Given the description of an element on the screen output the (x, y) to click on. 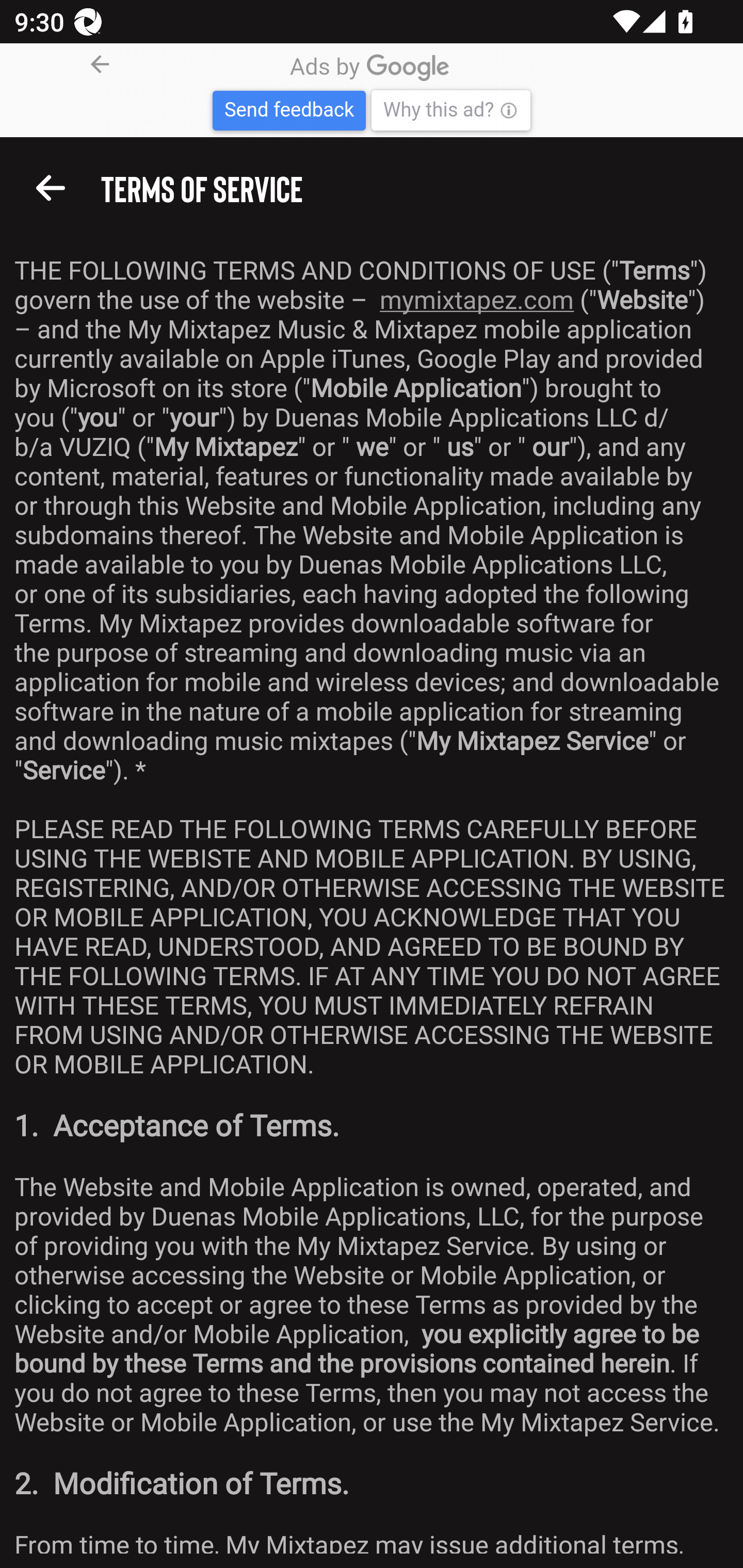
Advertisement (371, 92)
